Given the description of an element on the screen output the (x, y) to click on. 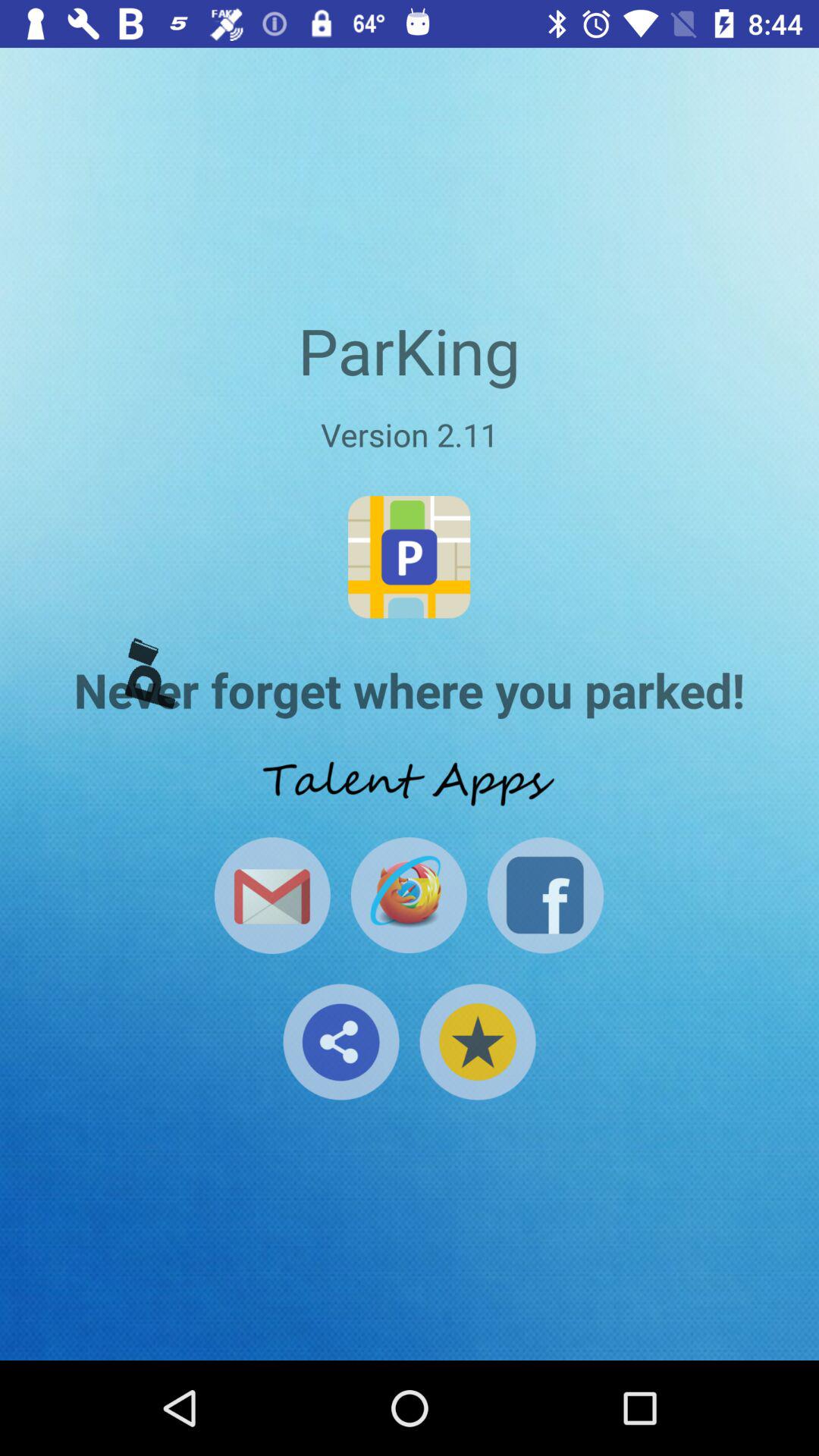
share button (341, 1041)
